Given the description of an element on the screen output the (x, y) to click on. 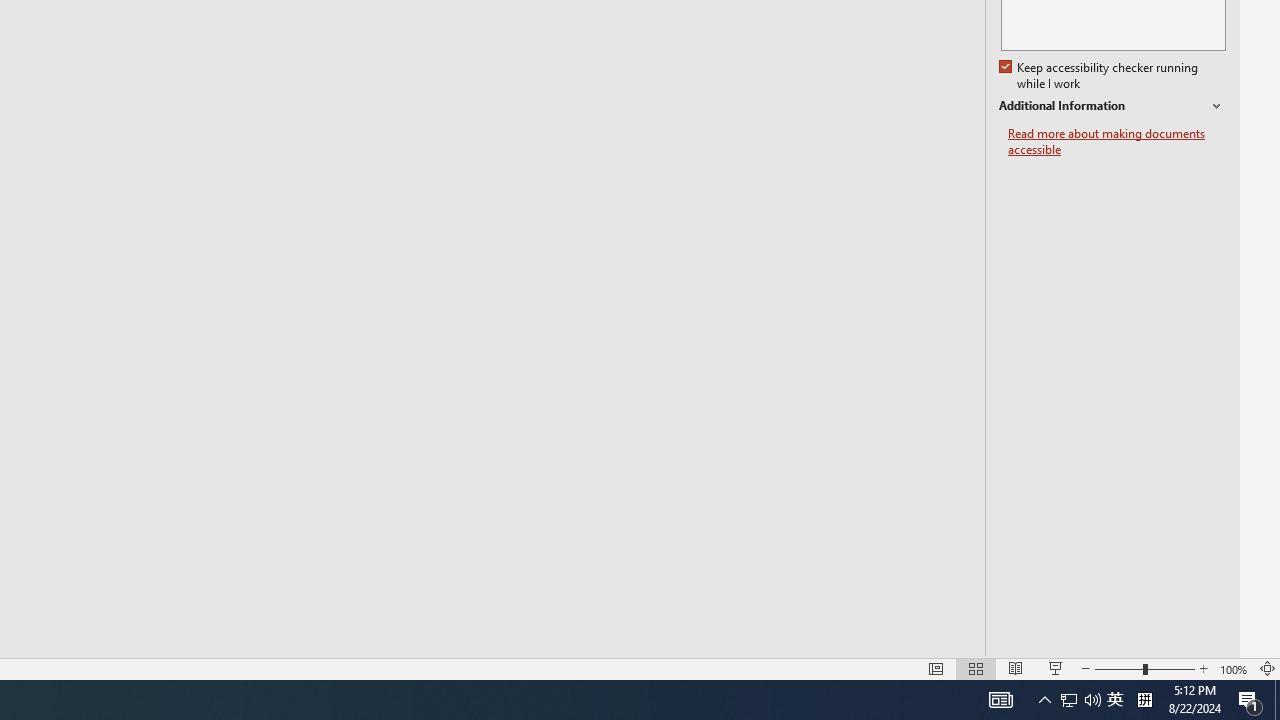
Additional Information (1112, 106)
Read more about making documents accessible (1117, 142)
Action Center, 1 new notification (1250, 699)
Zoom 100% (1234, 668)
